Given the description of an element on the screen output the (x, y) to click on. 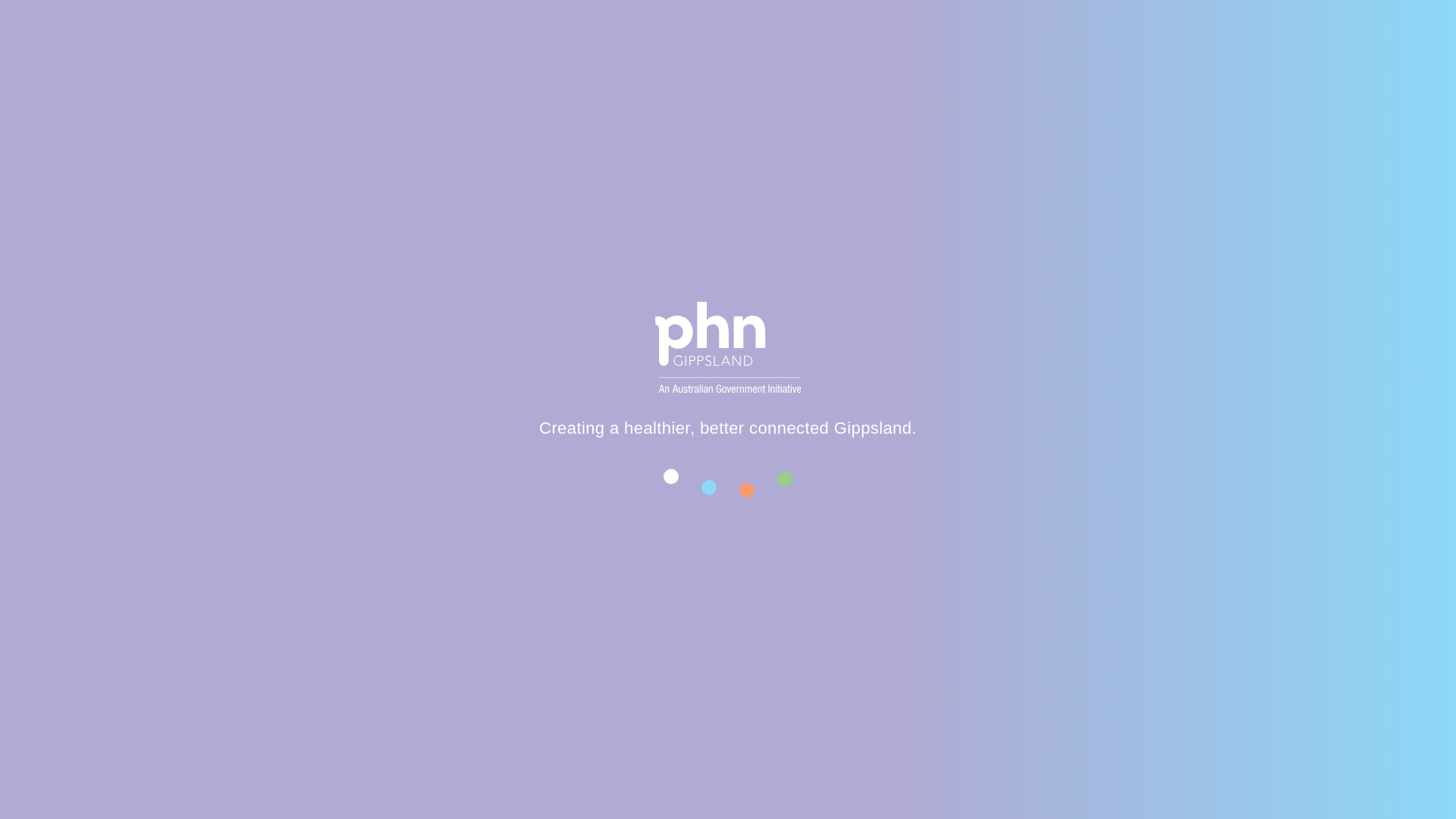
What We Do (657, 98)
Contact Us (1019, 20)
Careers (775, 20)
